Given the description of an element on the screen output the (x, y) to click on. 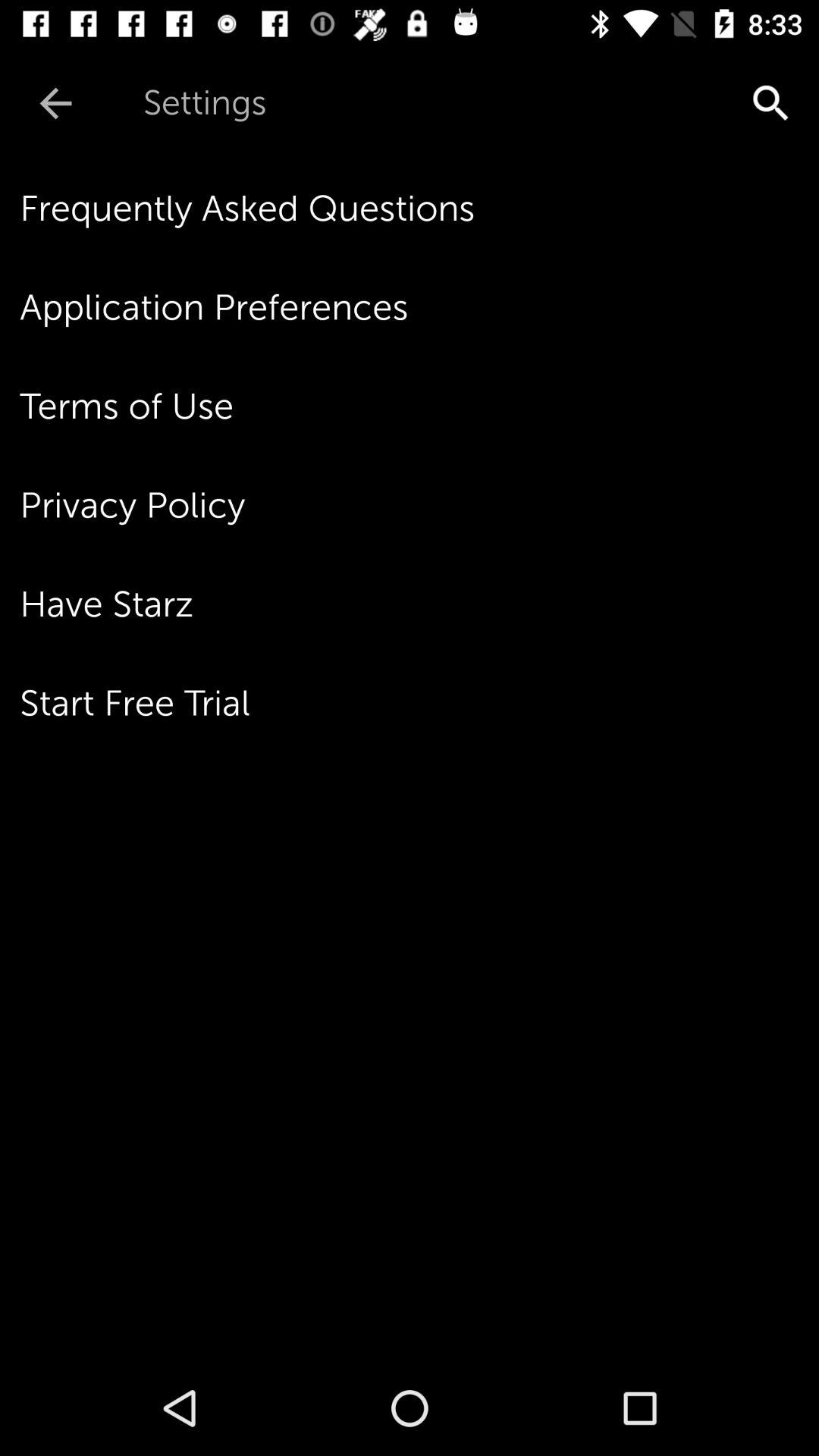
open the item above frequently asked questions item (771, 103)
